Given the description of an element on the screen output the (x, y) to click on. 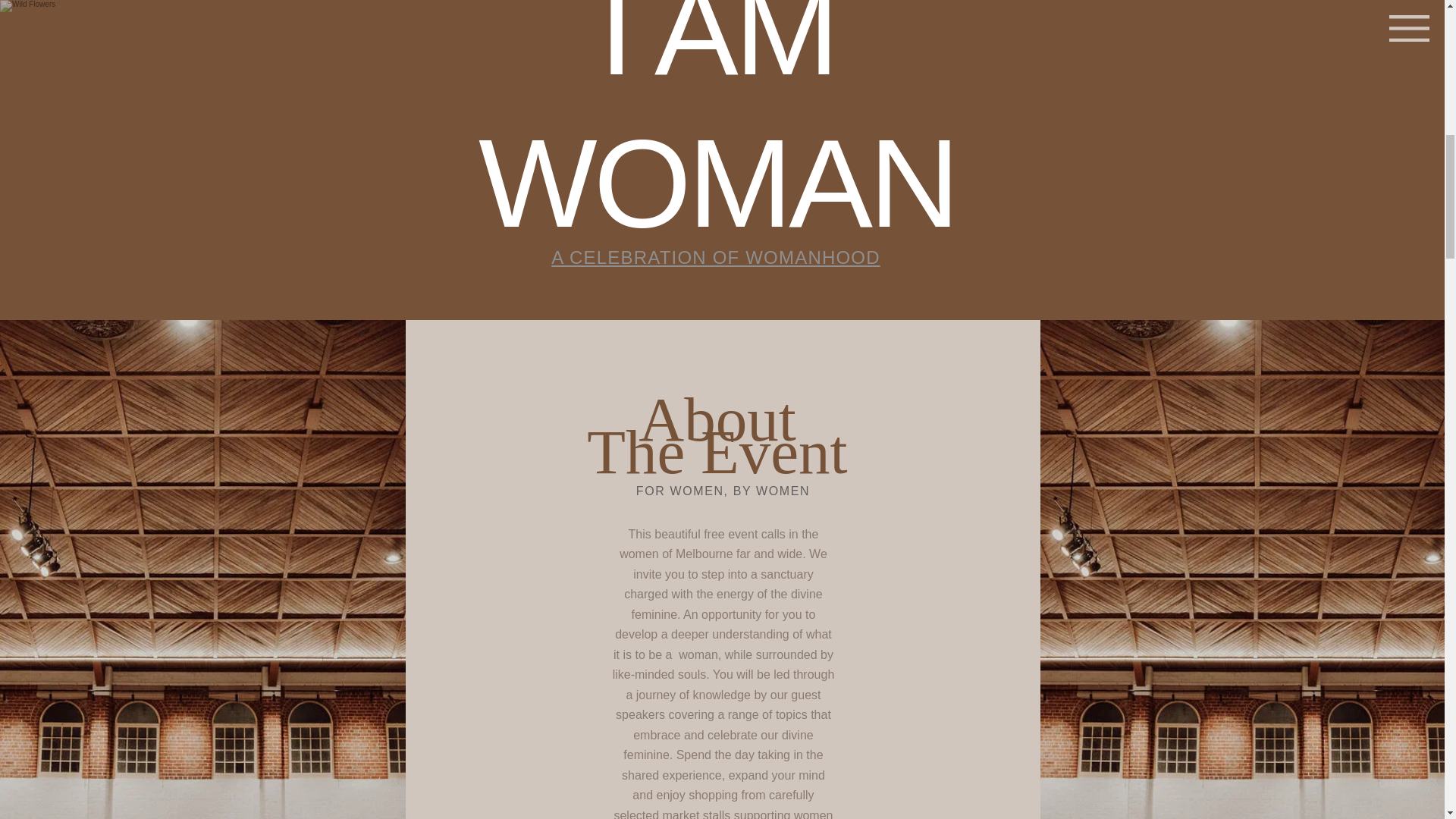
A CELEBRATION OF WOMANHOOD (717, 257)
